Given the description of an element on the screen output the (x, y) to click on. 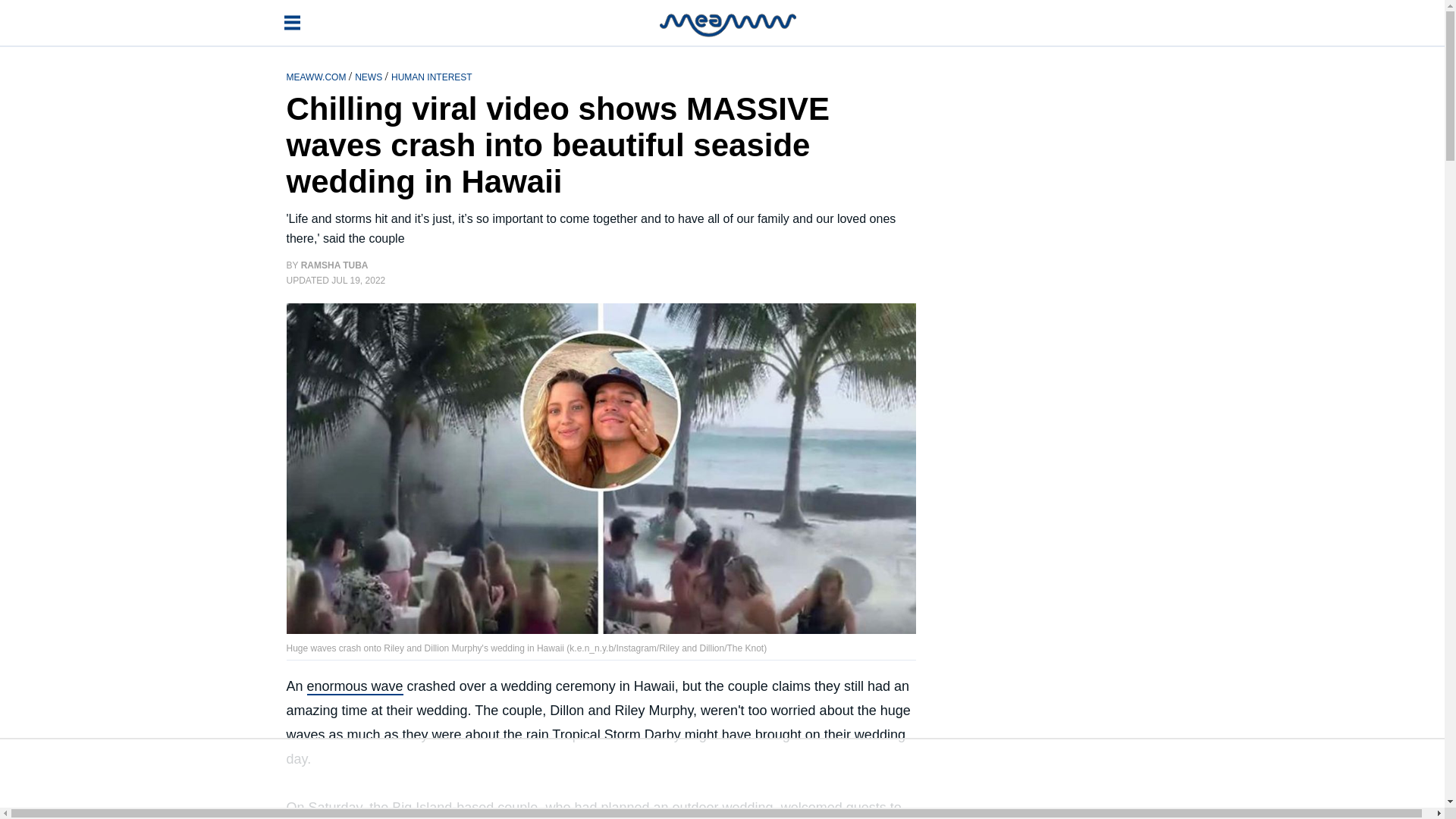
RAMSHA TUBA (334, 265)
enormous wave (355, 686)
HUMAN INTEREST (431, 75)
MEAWW.COM (317, 75)
outdoor wedding (722, 808)
NEWS (369, 75)
